Given the description of an element on the screen output the (x, y) to click on. 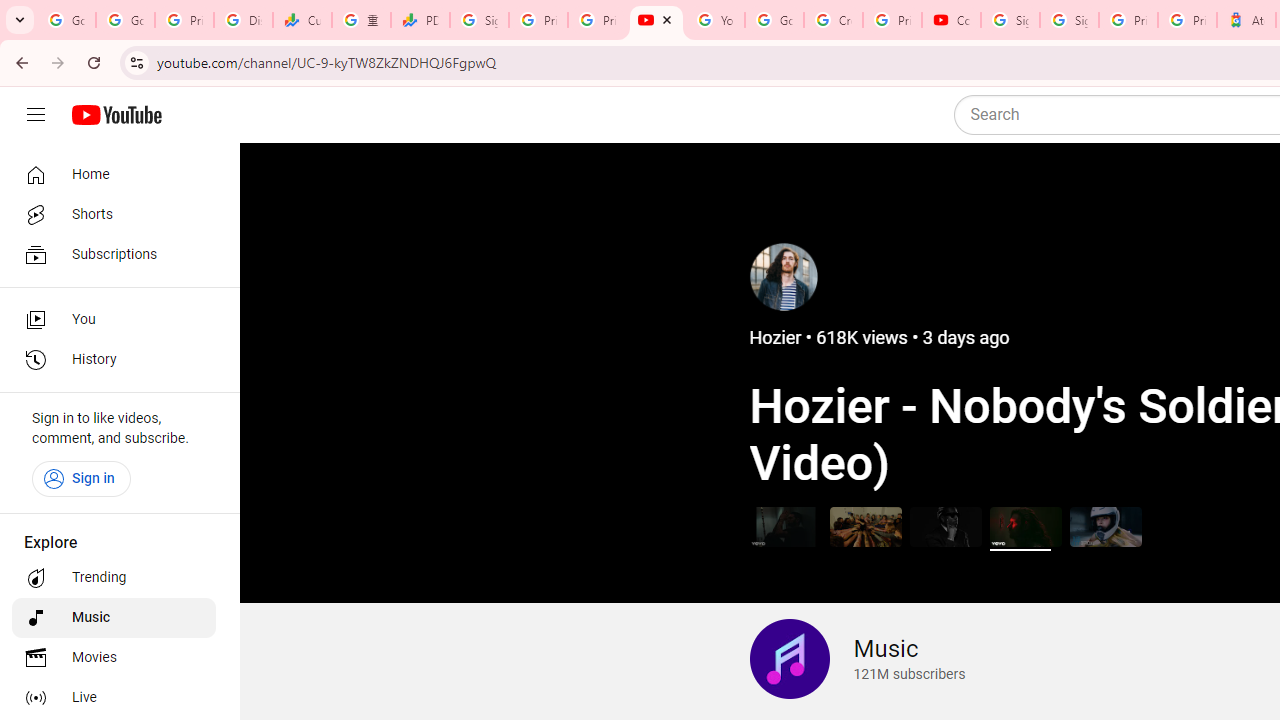
Hozier - Nobody's Soldier (Official Video) (1025, 526)
Sign in - Google Accounts (479, 20)
History (113, 359)
Shorts (113, 214)
Live (113, 697)
Music 121 million subscribers (857, 659)
Guide (35, 115)
Privacy Checkup (597, 20)
Google Account Help (774, 20)
